Given the description of an element on the screen output the (x, y) to click on. 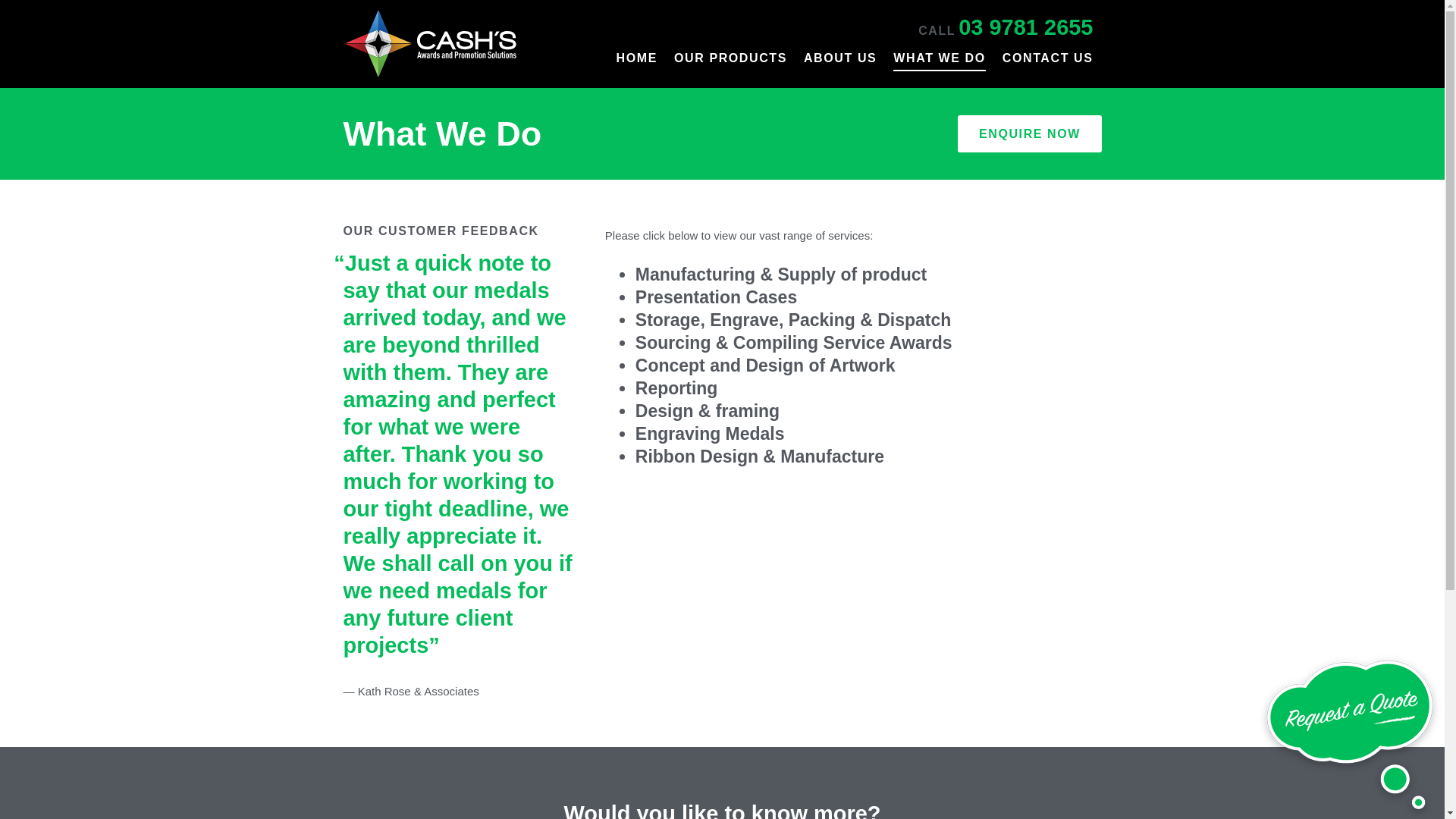
OUR PRODUCTS (729, 65)
WHAT WE DO (938, 65)
HOME (636, 65)
ABOUT US (839, 65)
03 9781 2655 (1025, 27)
